Given the description of an element on the screen output the (x, y) to click on. 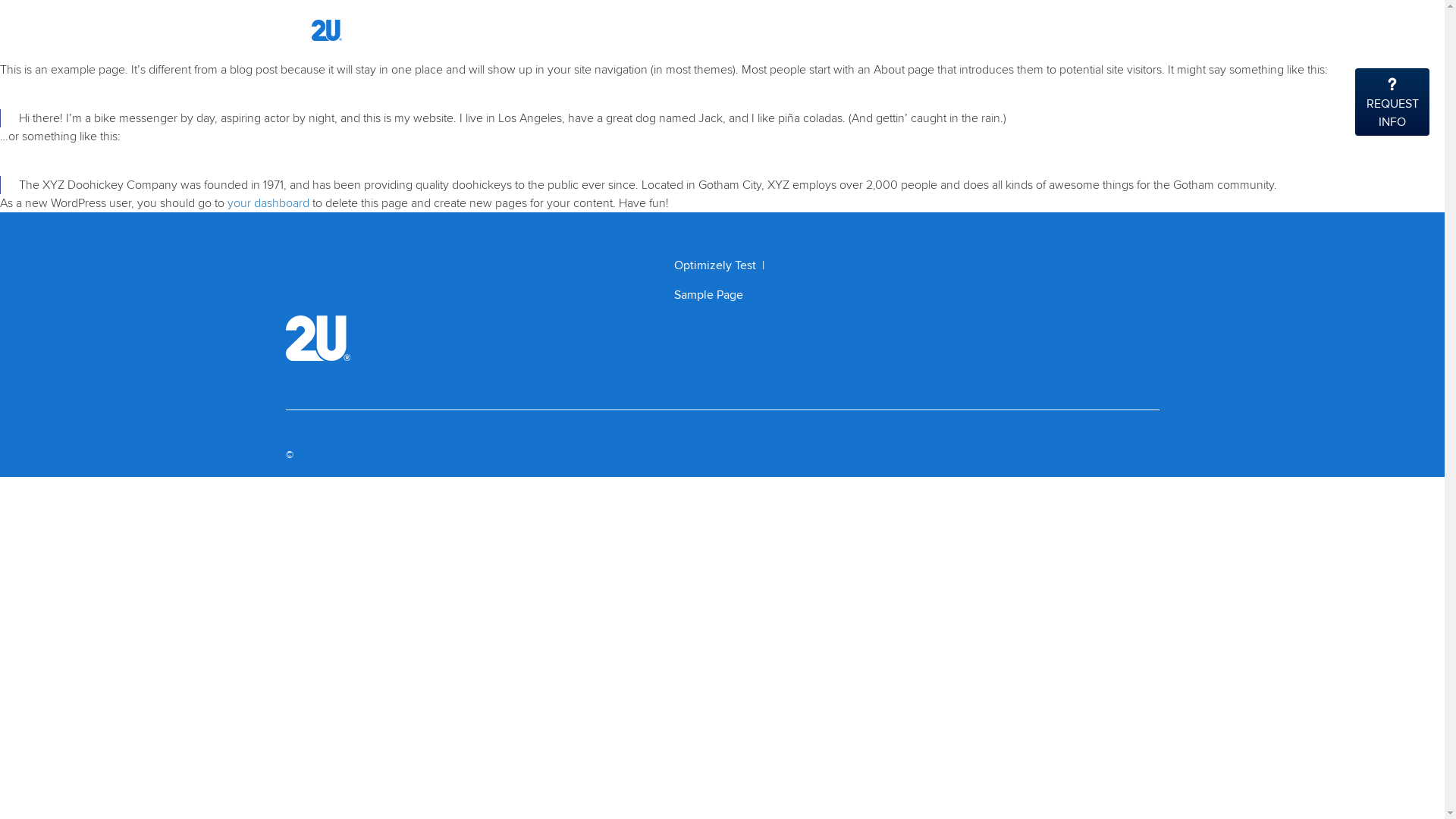
your dashboard Element type: text (268, 202)
Optimizely Test Element type: text (714, 265)
REQUEST
INFO Element type: text (1392, 101)
Sample Page Element type: text (707, 294)
